Given the description of an element on the screen output the (x, y) to click on. 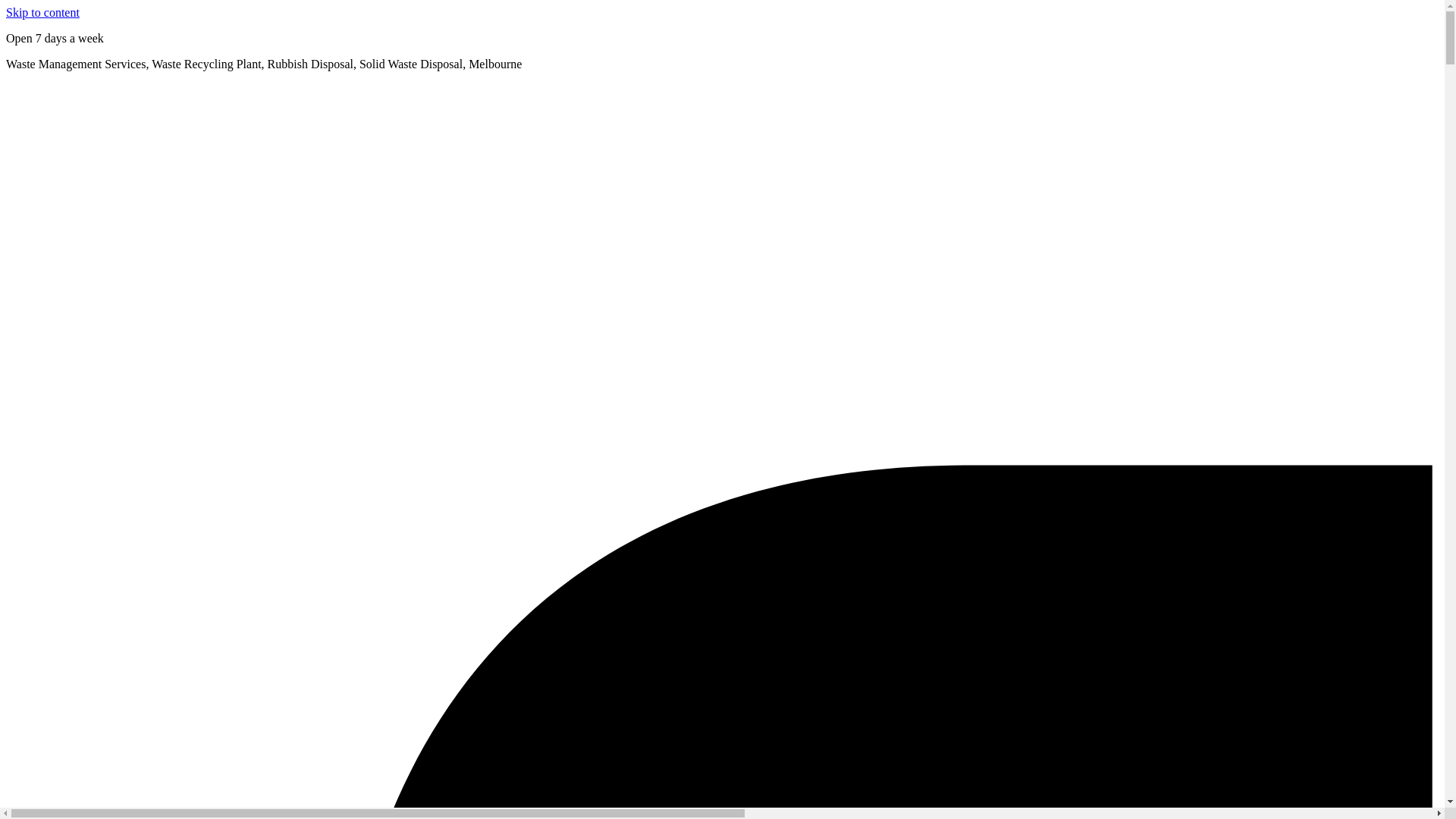
Skip to content Element type: text (42, 12)
